Given the description of an element on the screen output the (x, y) to click on. 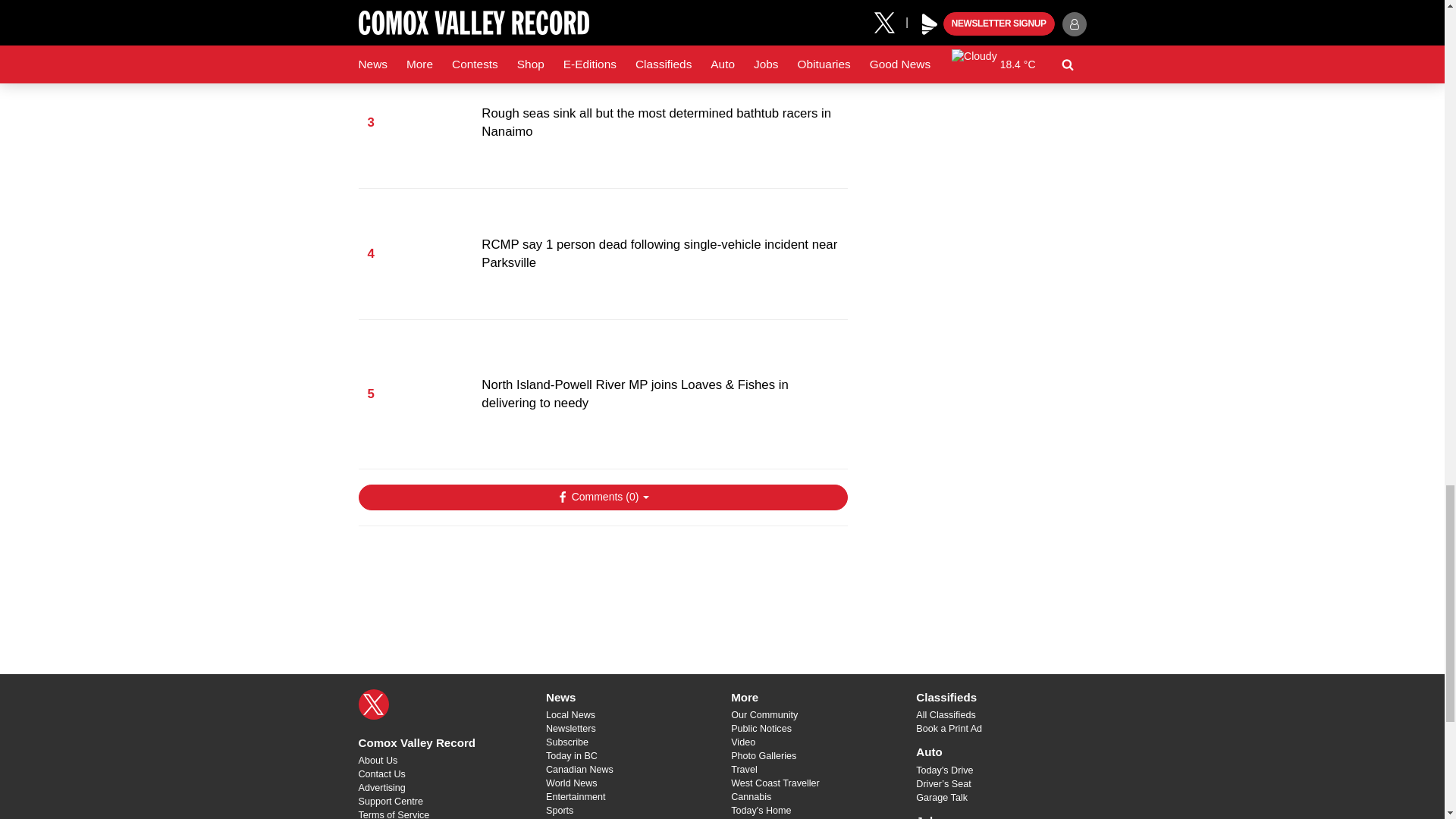
X (373, 704)
Show Comments (602, 497)
